Given the description of an element on the screen output the (x, y) to click on. 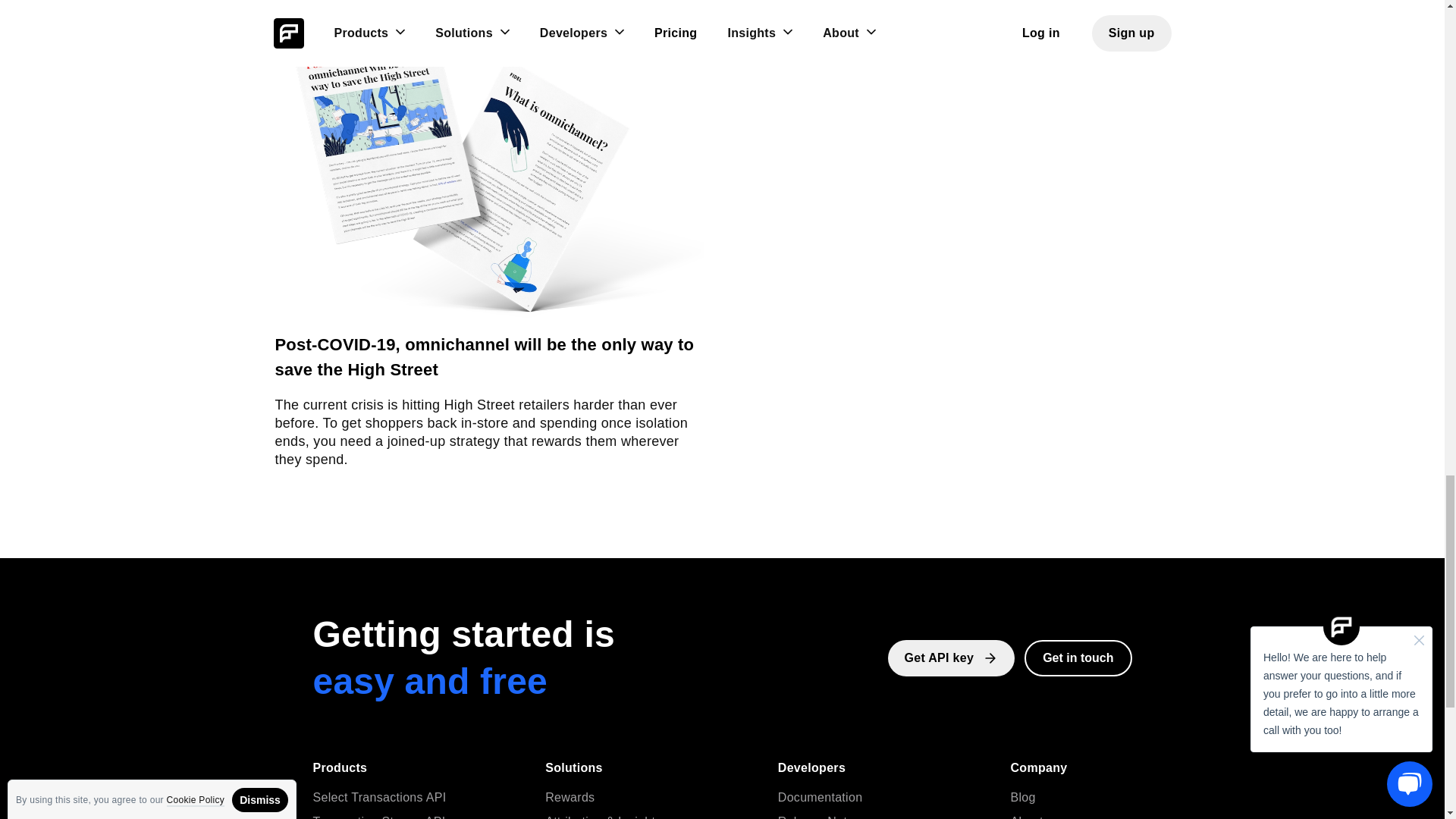
Documentation (820, 798)
Release Notes (818, 816)
Rewards (569, 798)
Get API key (951, 657)
Get in touch (1078, 657)
Select Transactions API (379, 798)
Transaction Stream API (379, 816)
